Given the description of an element on the screen output the (x, y) to click on. 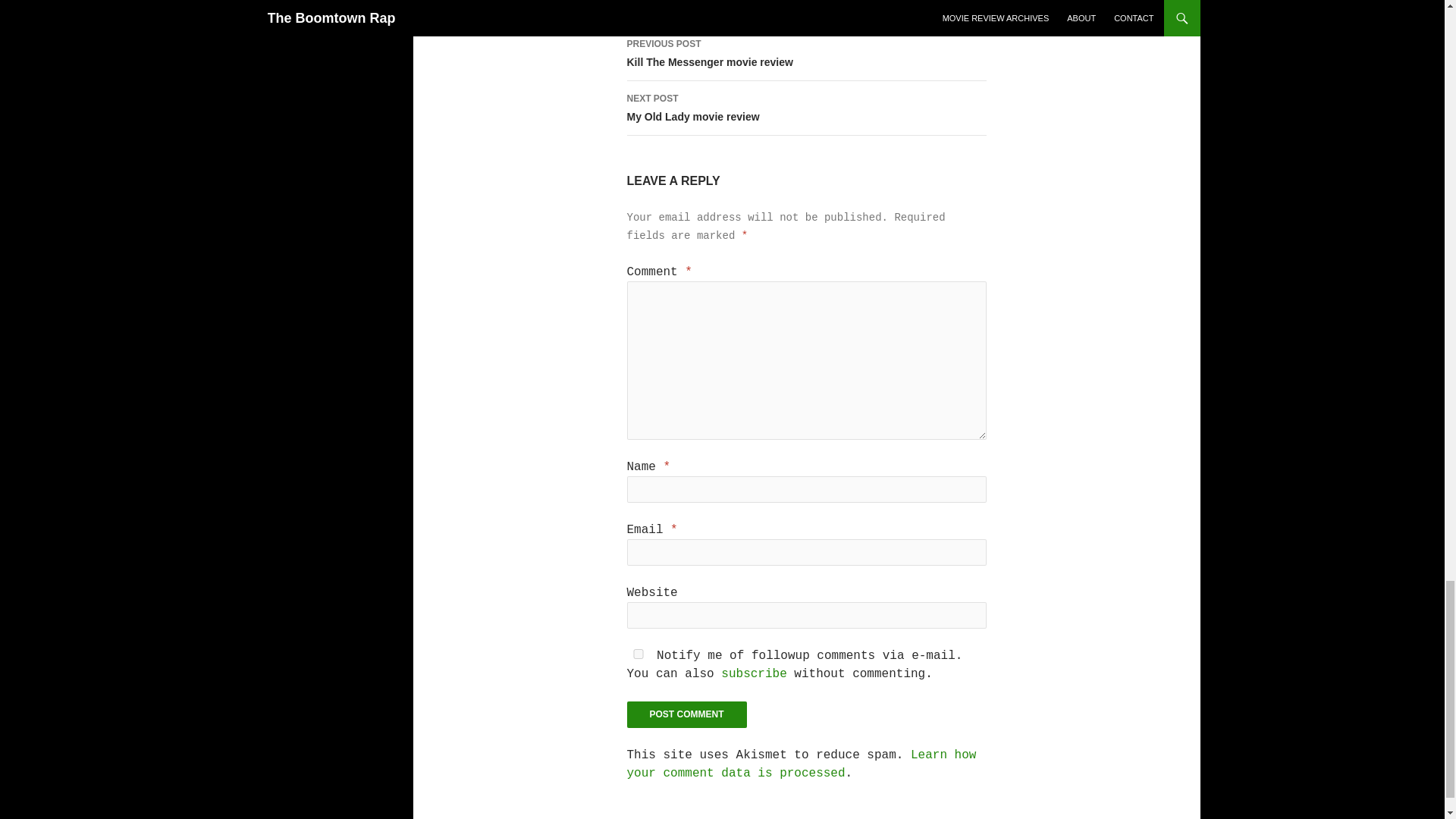
Post Comment (685, 714)
yes (637, 654)
Learn how your comment data is processed (805, 108)
Post Comment (800, 764)
subscribe (685, 714)
